Given the description of an element on the screen output the (x, y) to click on. 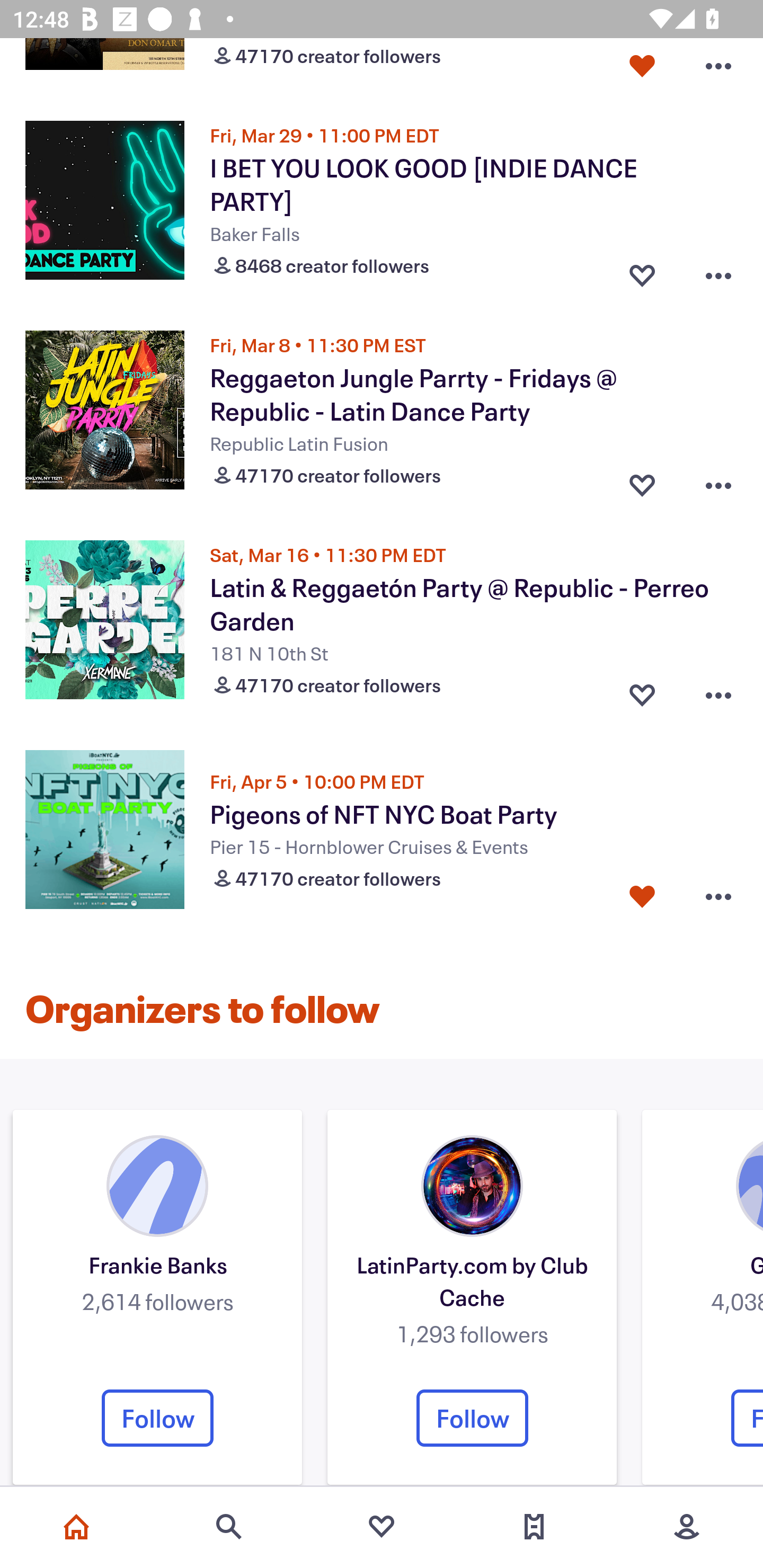
Favorite button (642, 66)
Overflow menu button (718, 66)
Favorite button (642, 271)
Overflow menu button (718, 271)
Favorite button (642, 480)
Overflow menu button (718, 480)
Favorite button (642, 690)
Overflow menu button (718, 690)
Favorite button (642, 896)
Overflow menu button (718, 896)
Follow Organizer's follow button (157, 1418)
Follow Organizer's follow button (471, 1418)
Home (76, 1526)
Search events (228, 1526)
Favorites (381, 1526)
Tickets (533, 1526)
More (686, 1526)
